Given the description of an element on the screen output the (x, y) to click on. 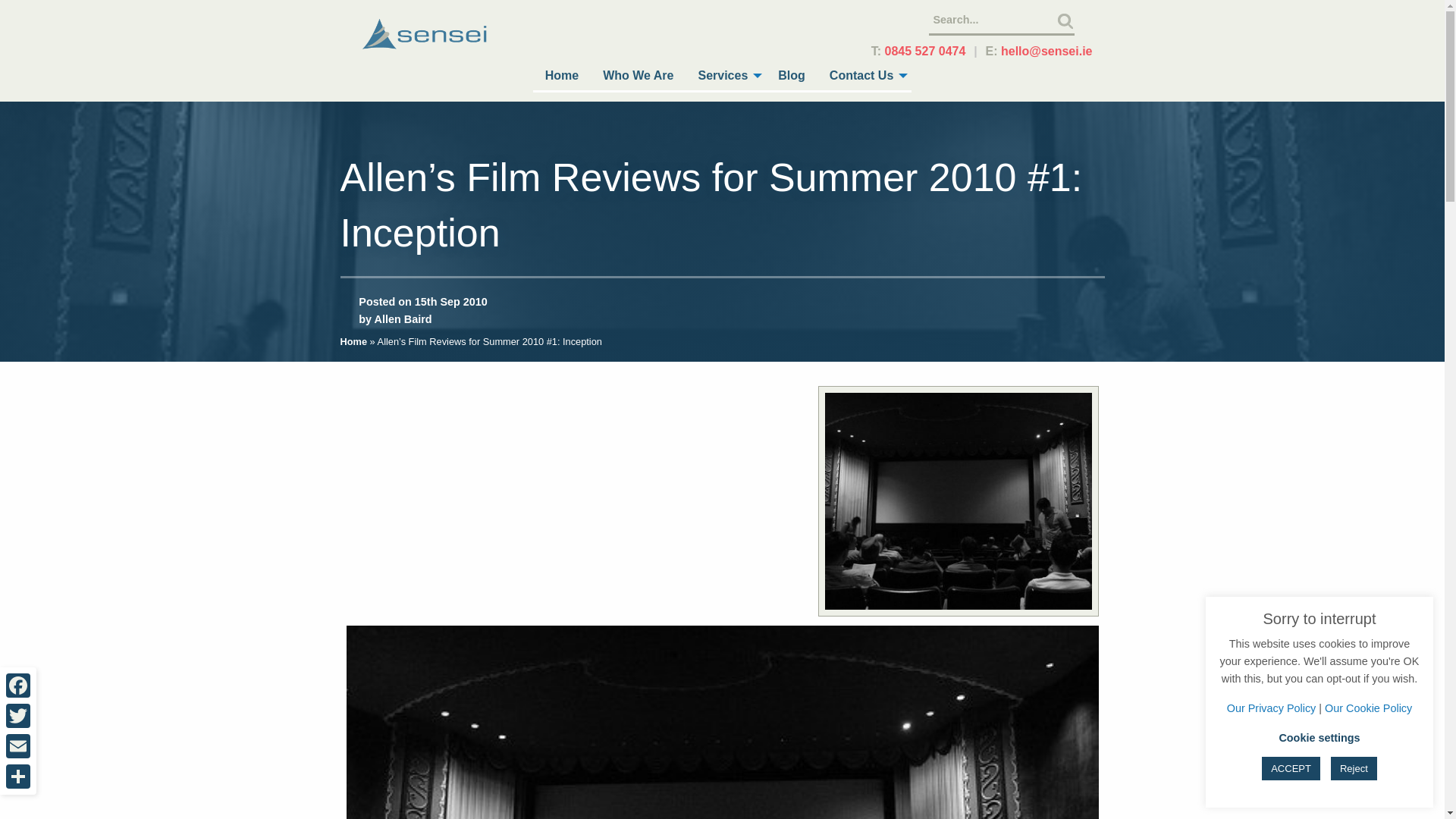
Facebook (17, 685)
Allen Baird (403, 318)
Search for: (1001, 20)
Blog (790, 76)
15th Sep 2010 (450, 301)
Who We Are (638, 76)
Email (17, 746)
Home (352, 341)
Twitter (17, 716)
Home (561, 76)
Services (725, 76)
Contact Us (863, 76)
0845 527 0474 (925, 51)
